Given the description of an element on the screen output the (x, y) to click on. 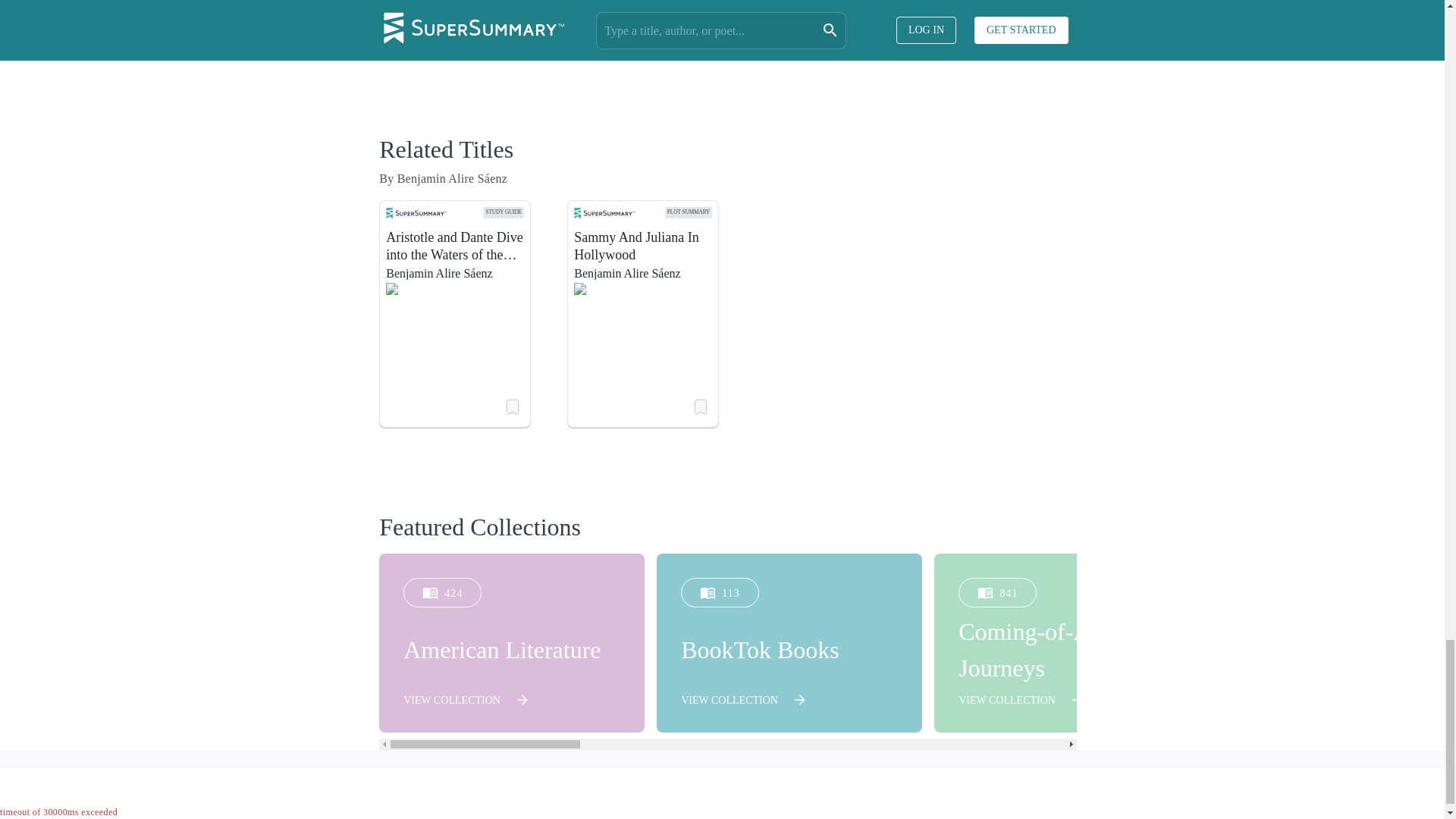
INTRODUCTION (462, 42)
